Given the description of an element on the screen output the (x, y) to click on. 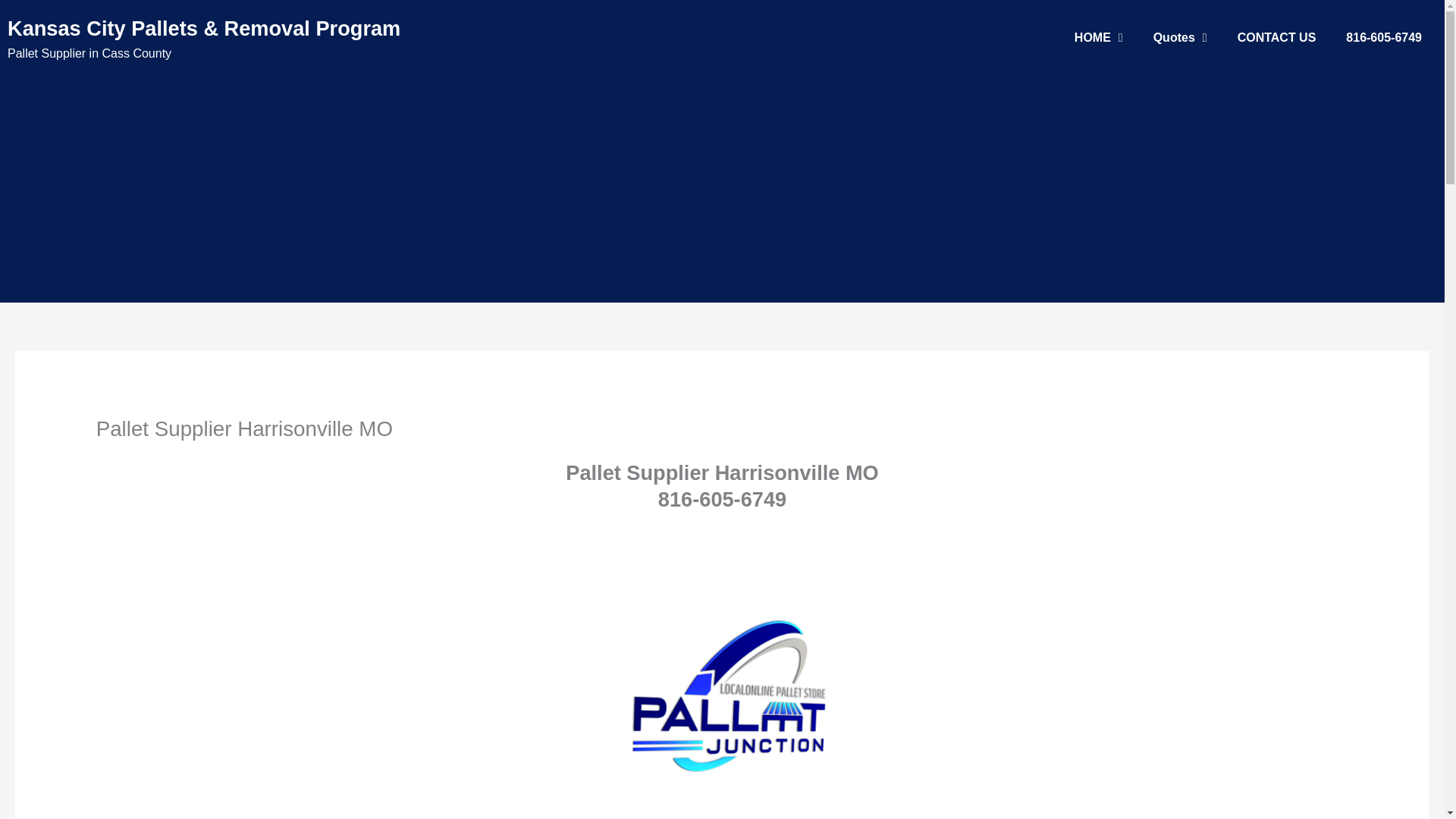
HOME (1098, 37)
816-605-6749 (1383, 37)
CONTACT US (1277, 37)
Quotes (1180, 37)
